Given the description of an element on the screen output the (x, y) to click on. 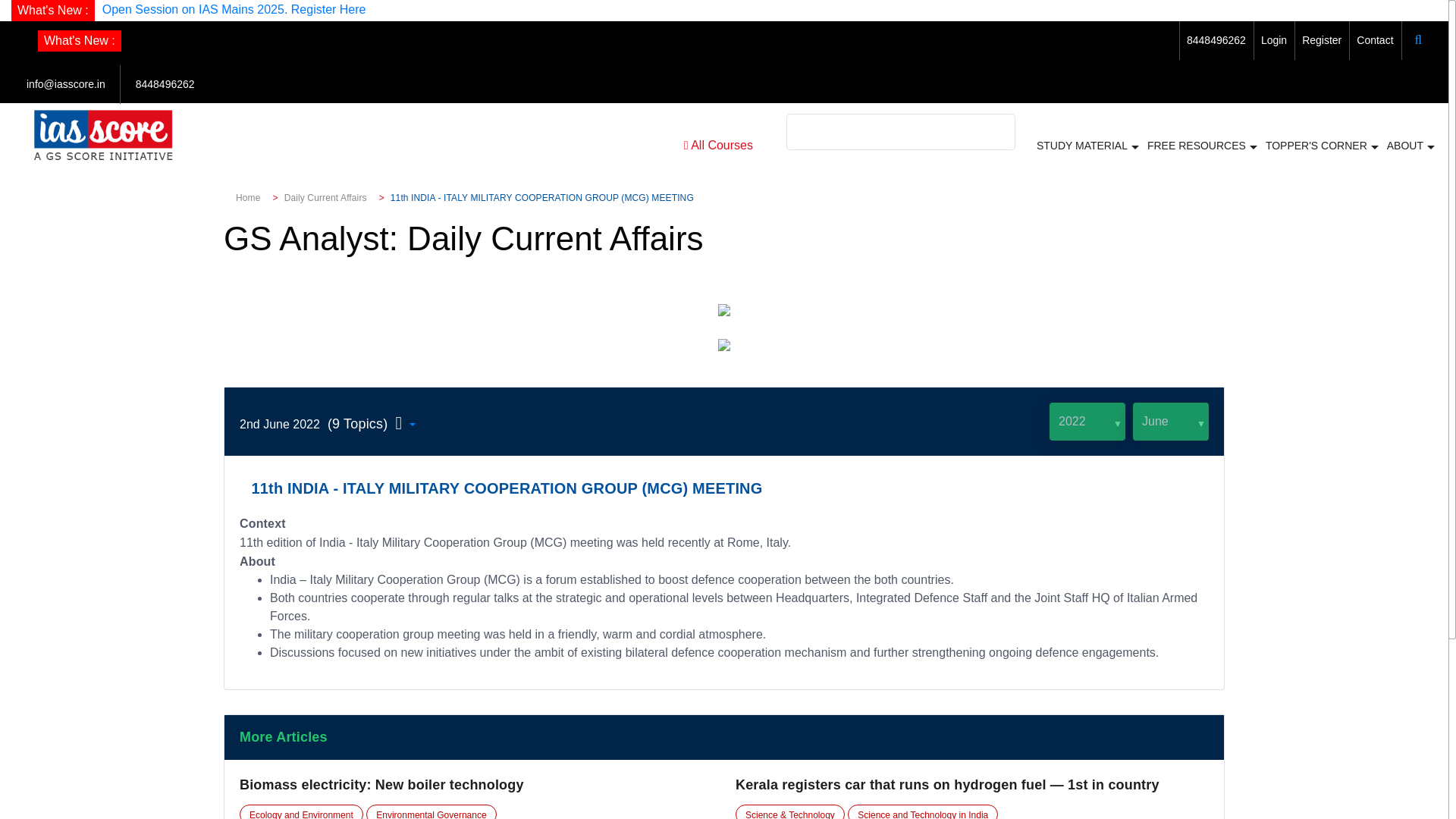
Register (1320, 39)
8448496262 (1216, 39)
Contact (1374, 39)
Open Session on IAS Mains 2025. Register Here (233, 9)
Login (1273, 39)
8448496262 (165, 83)
All Courses (718, 145)
